Given the description of an element on the screen output the (x, y) to click on. 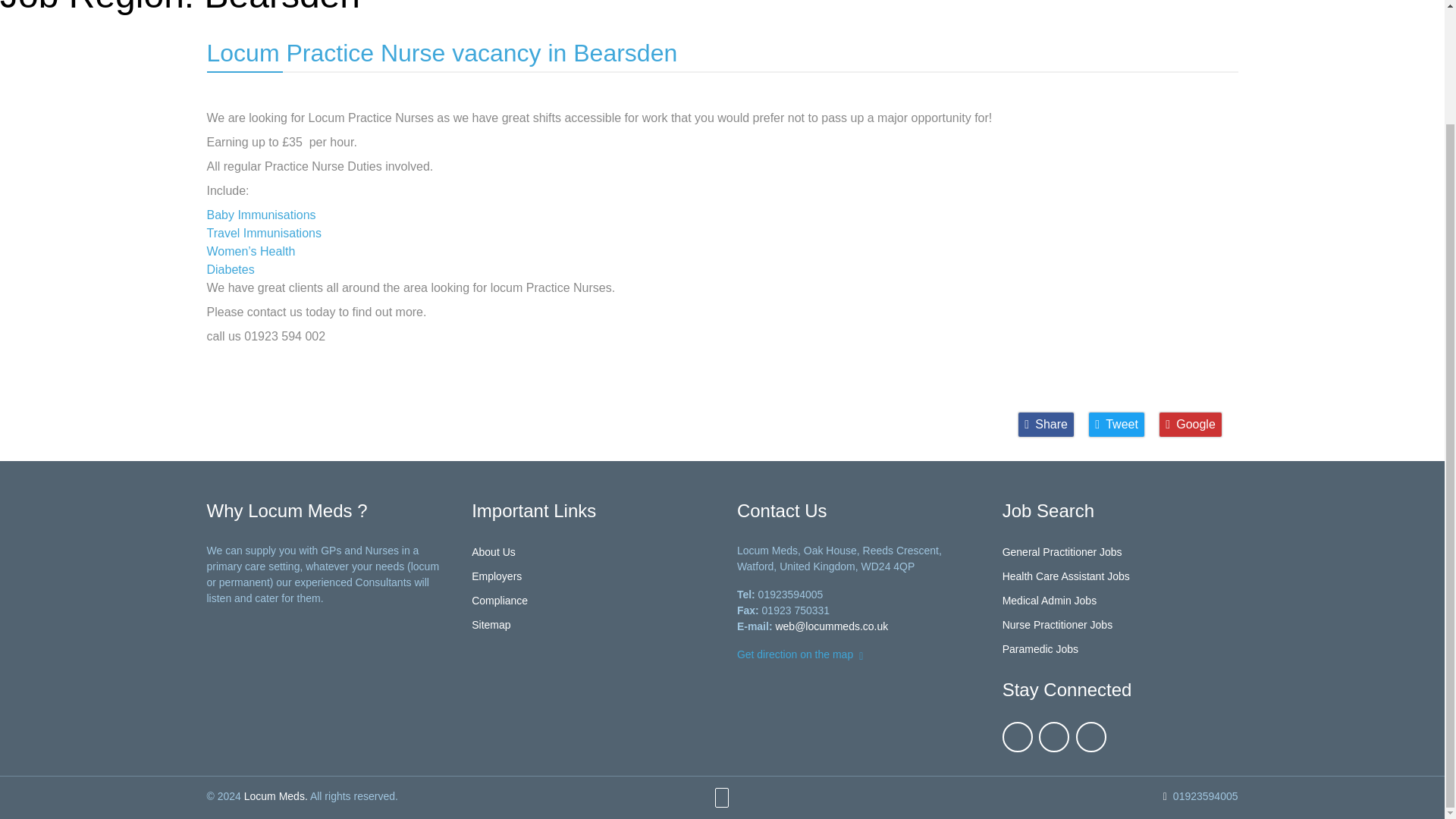
Get direction on the map (802, 654)
Nurse Practitioner Jobs (1058, 624)
Locum Meds. (275, 796)
Health Care Assistant Jobs (1066, 576)
Paramedic Jobs (1040, 648)
Locum Practice Nurse vacancy in Bearsden (441, 52)
Medical Admin Jobs (1050, 600)
Tweet (1116, 424)
Employers (496, 576)
Compliance (499, 600)
Share (1045, 424)
General Practitioner Jobs (1062, 551)
Sitemap (491, 624)
About Us (493, 551)
Google (1189, 424)
